Given the description of an element on the screen output the (x, y) to click on. 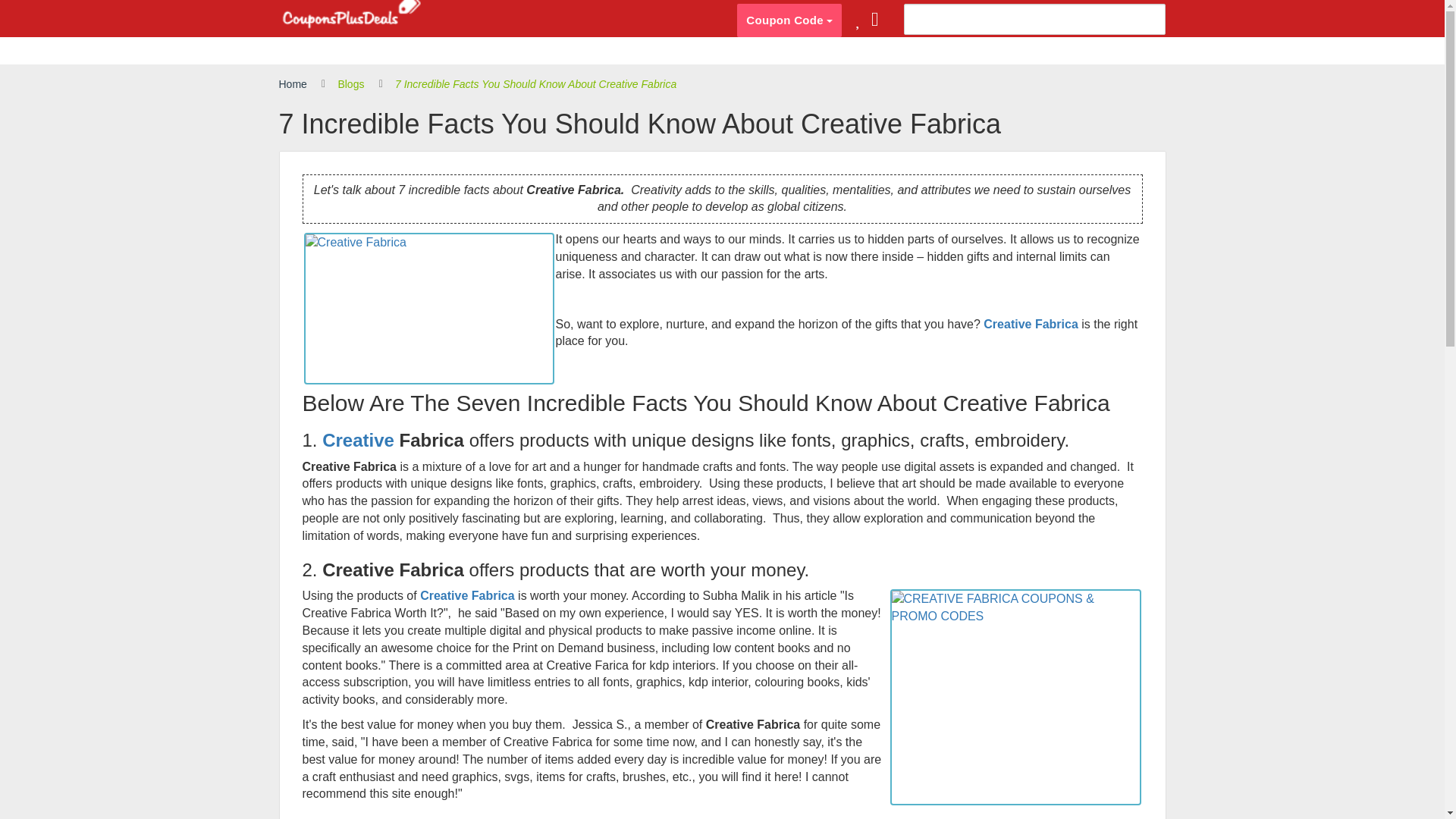
Blogs (350, 84)
Creative Fabrica (467, 594)
Coupons Plus Deals (351, 15)
Home (293, 84)
Creative Fabrica (1031, 323)
Coupon Code (788, 20)
Creative (357, 439)
